Given the description of an element on the screen output the (x, y) to click on. 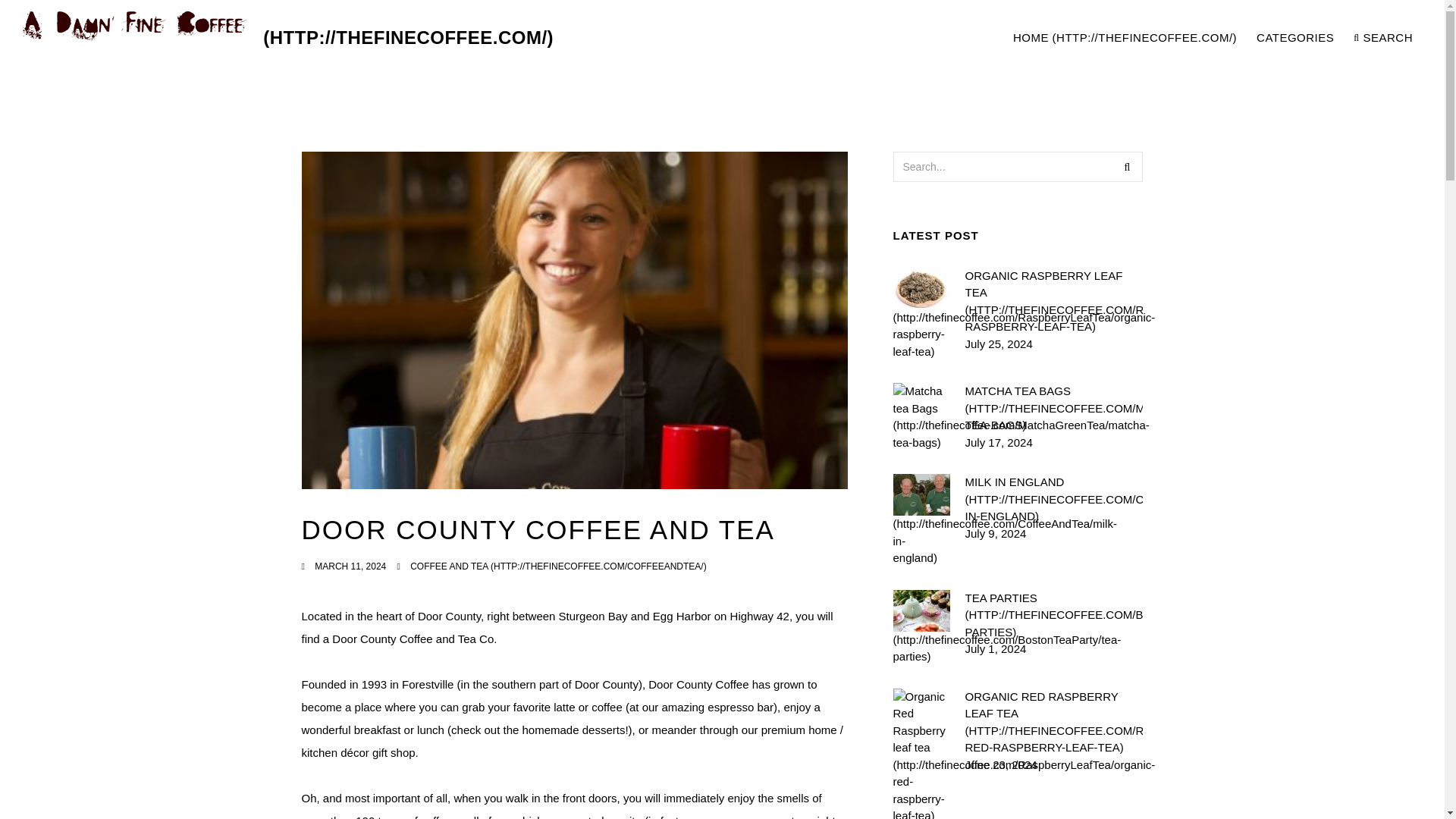
Search (1126, 166)
CATEGORIES (1294, 38)
HOME (1125, 38)
MATCHA TEA BAGS (1052, 408)
MILK IN ENGLAND (1052, 499)
COFFEE AND TEA (558, 566)
ORGANIC RASPBERRY LEAF TEA (1052, 300)
SEARCH (1382, 38)
A Damn Fine Coffee (288, 38)
